Given the description of an element on the screen output the (x, y) to click on. 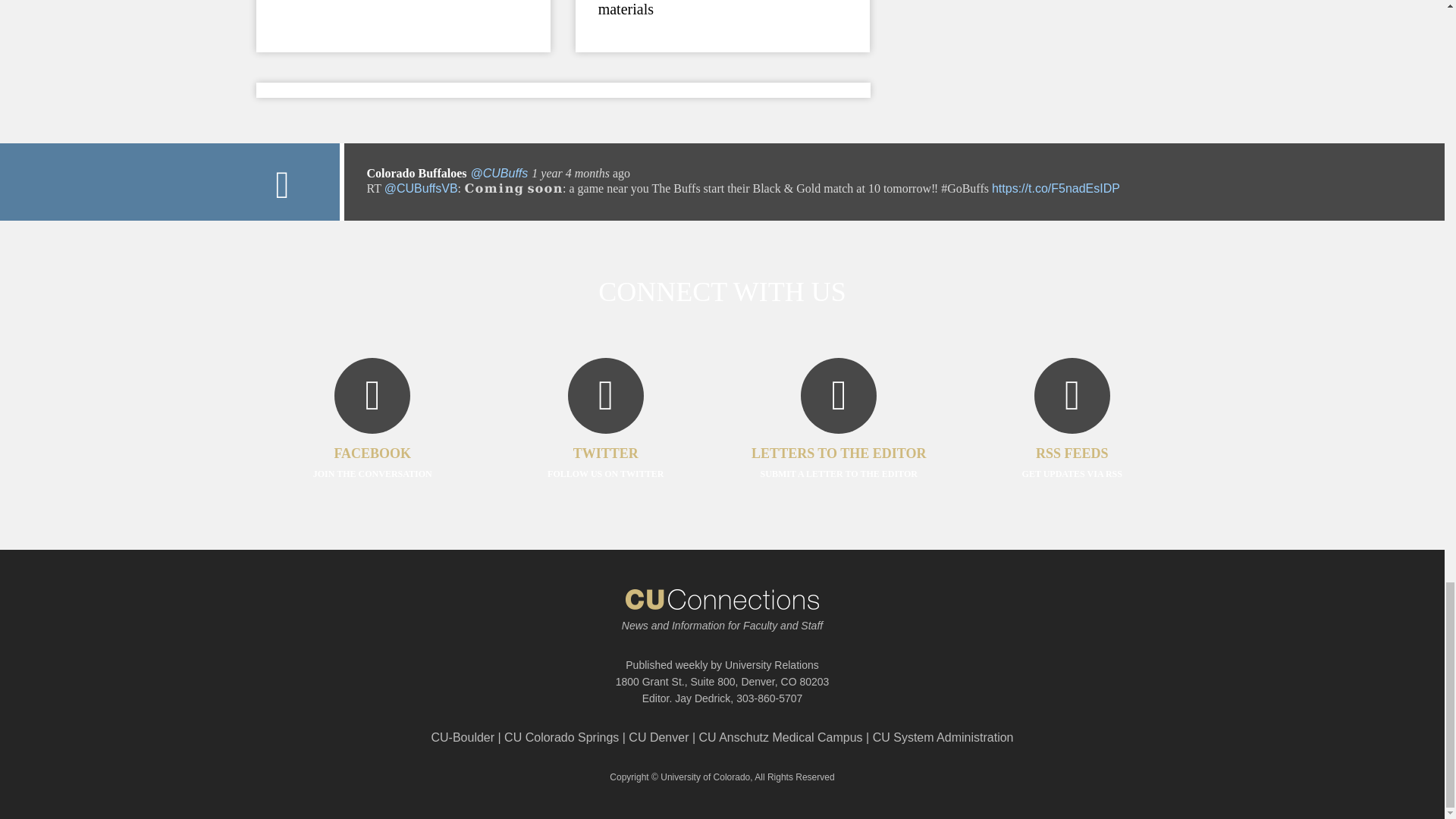
Follow us on Twitter (605, 440)
Join the Conversation (372, 440)
Get Updates Via RSS (1072, 440)
Submit a Letter to the Editor (838, 440)
